Given the description of an element on the screen output the (x, y) to click on. 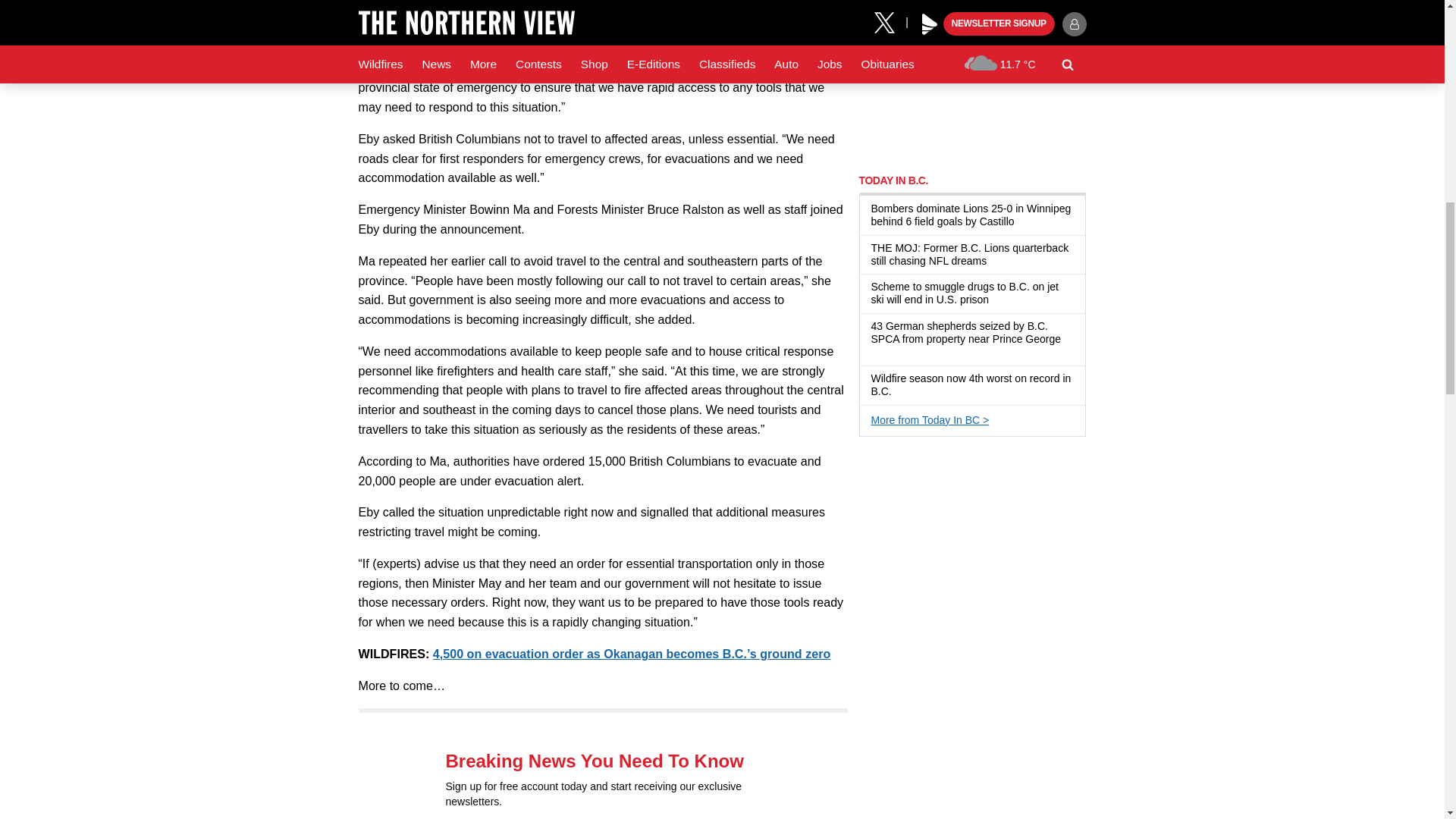
Has a gallery (876, 352)
